Given the description of an element on the screen output the (x, y) to click on. 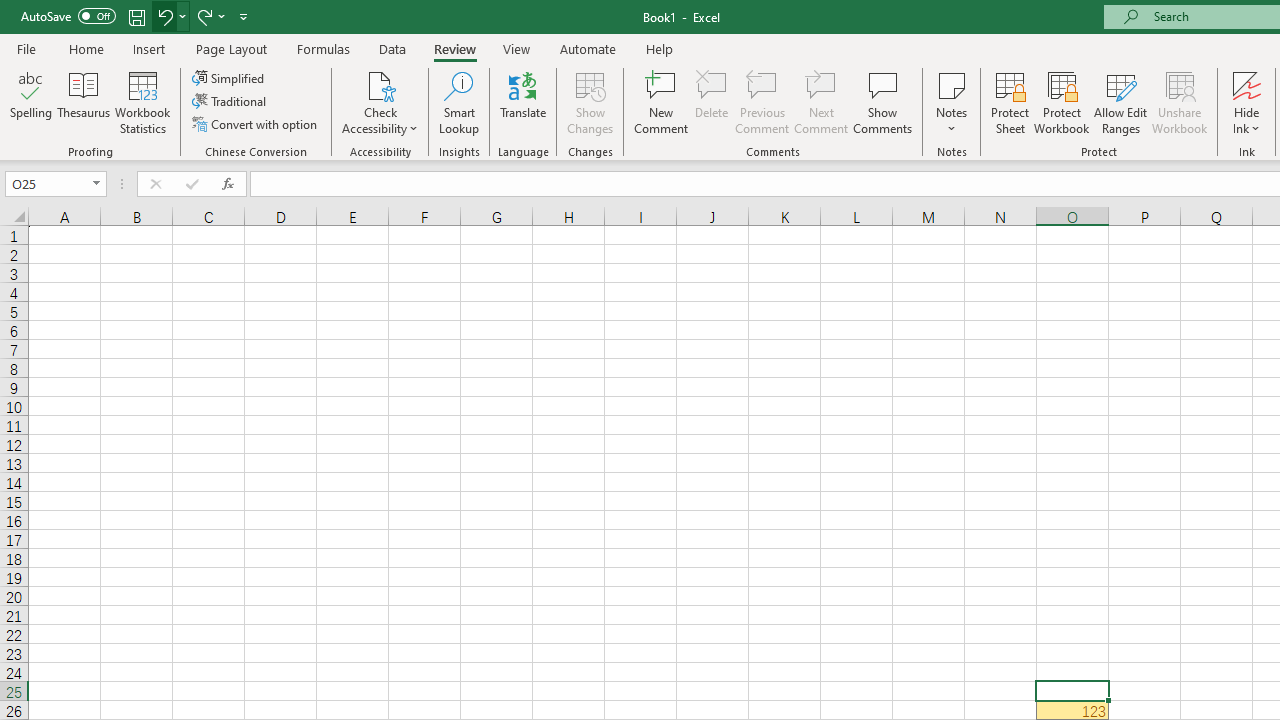
Unshare Workbook (1179, 102)
